Given the description of an element on the screen output the (x, y) to click on. 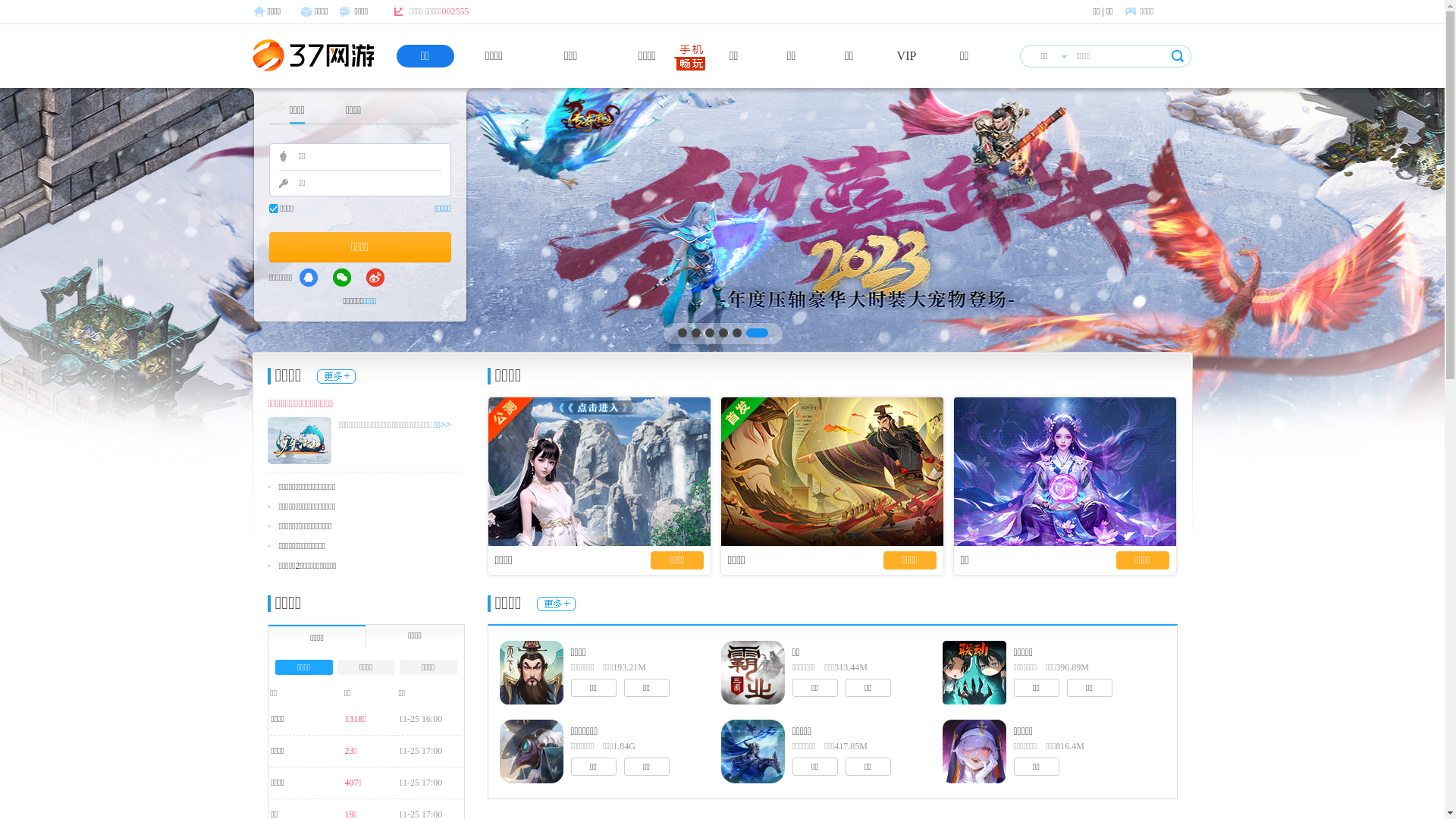
VIP Element type: text (906, 55)
QQ Element type: hover (308, 277)
